Given the description of an element on the screen output the (x, y) to click on. 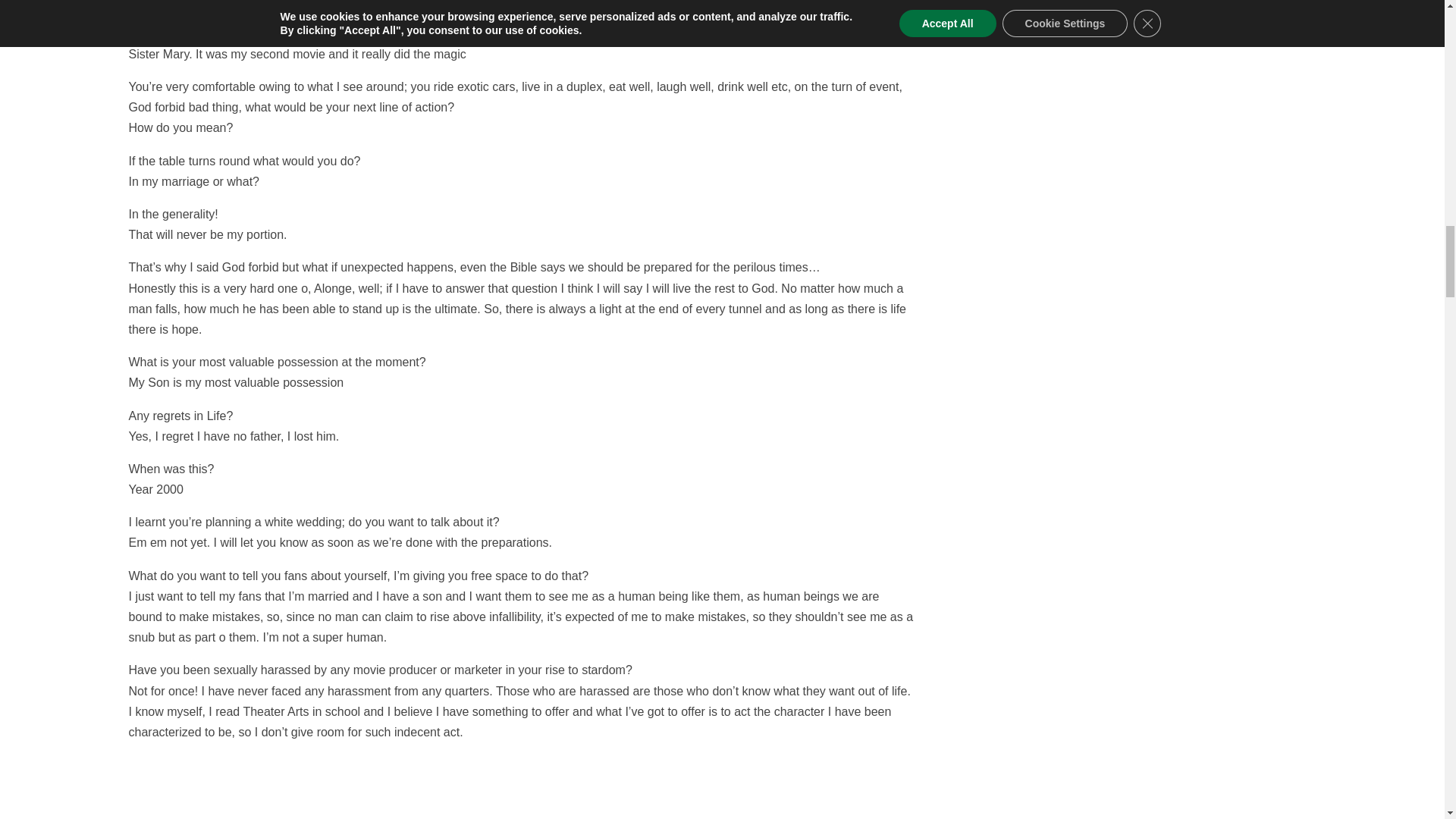
Advertisement (521, 786)
